Given the description of an element on the screen output the (x, y) to click on. 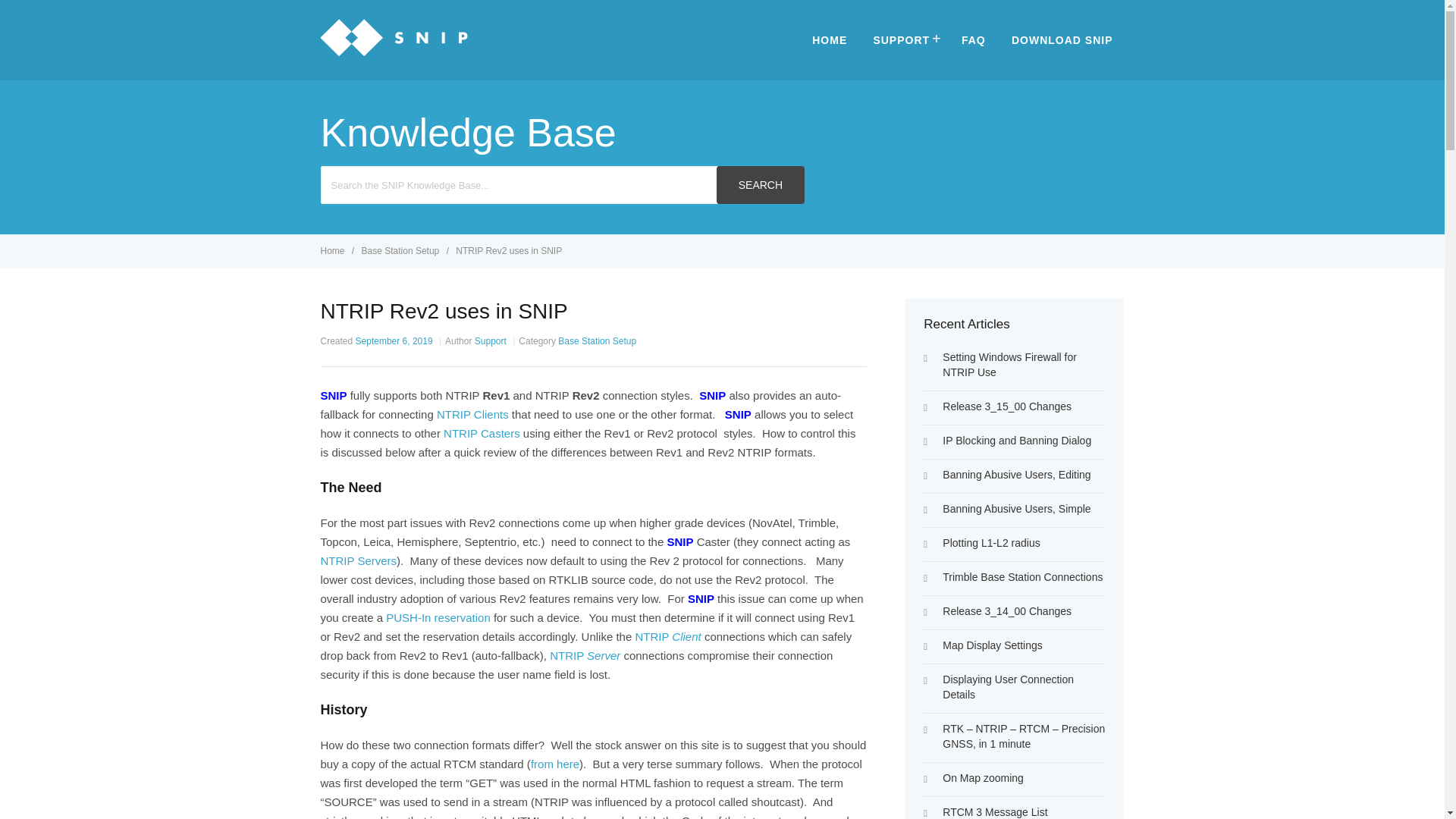
Support (490, 340)
SUPPORT (903, 39)
FAQ (973, 39)
NTRIP Casters (481, 432)
Home (333, 250)
NTRIP Servers (358, 560)
PUSH-In reservation (437, 617)
NTRIP Clients (472, 413)
View all posts in Base Station Setup (401, 250)
FAQs (973, 39)
